Given the description of an element on the screen output the (x, y) to click on. 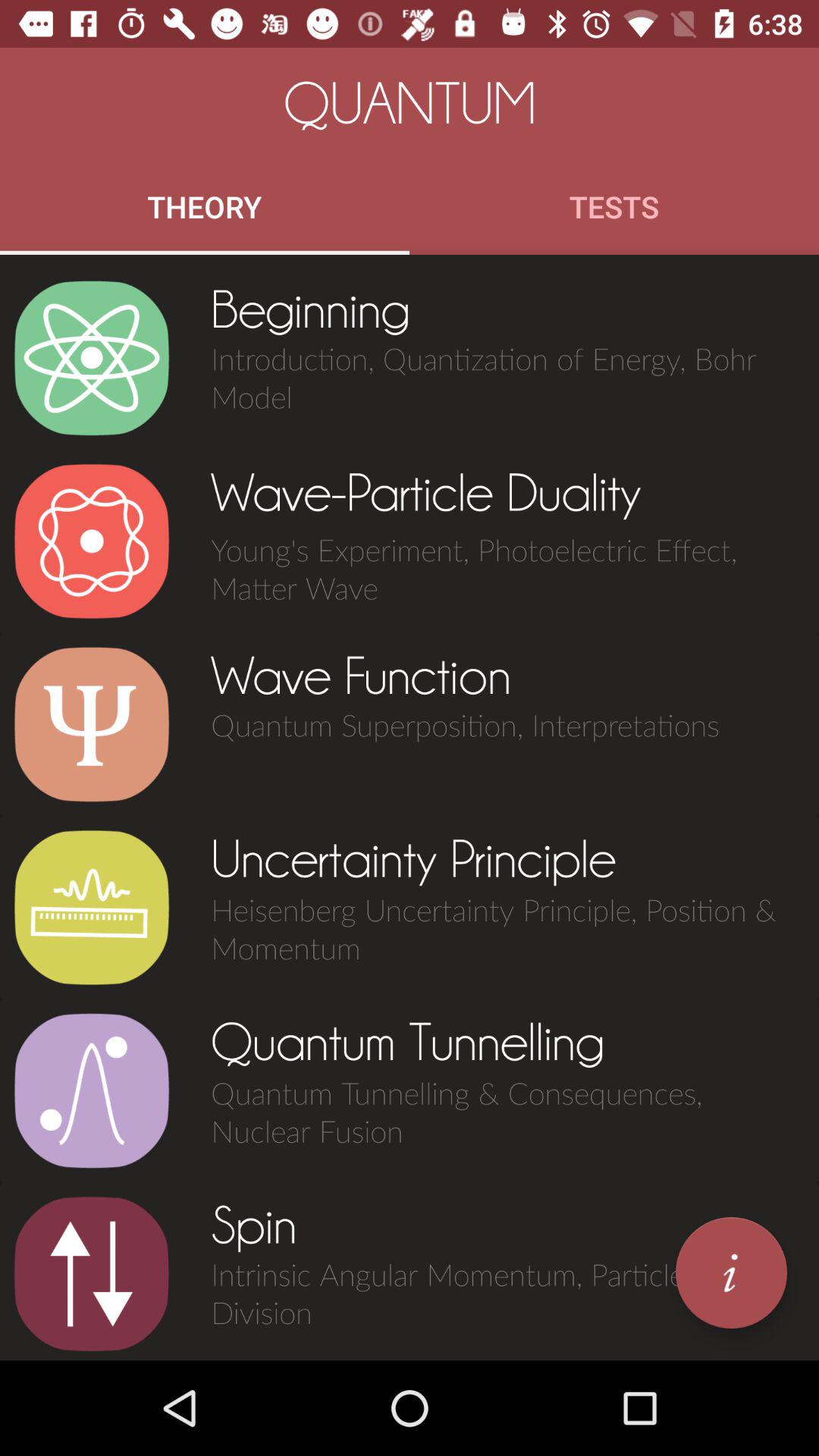
launch item to the left of spin item (91, 1273)
